Given the description of an element on the screen output the (x, y) to click on. 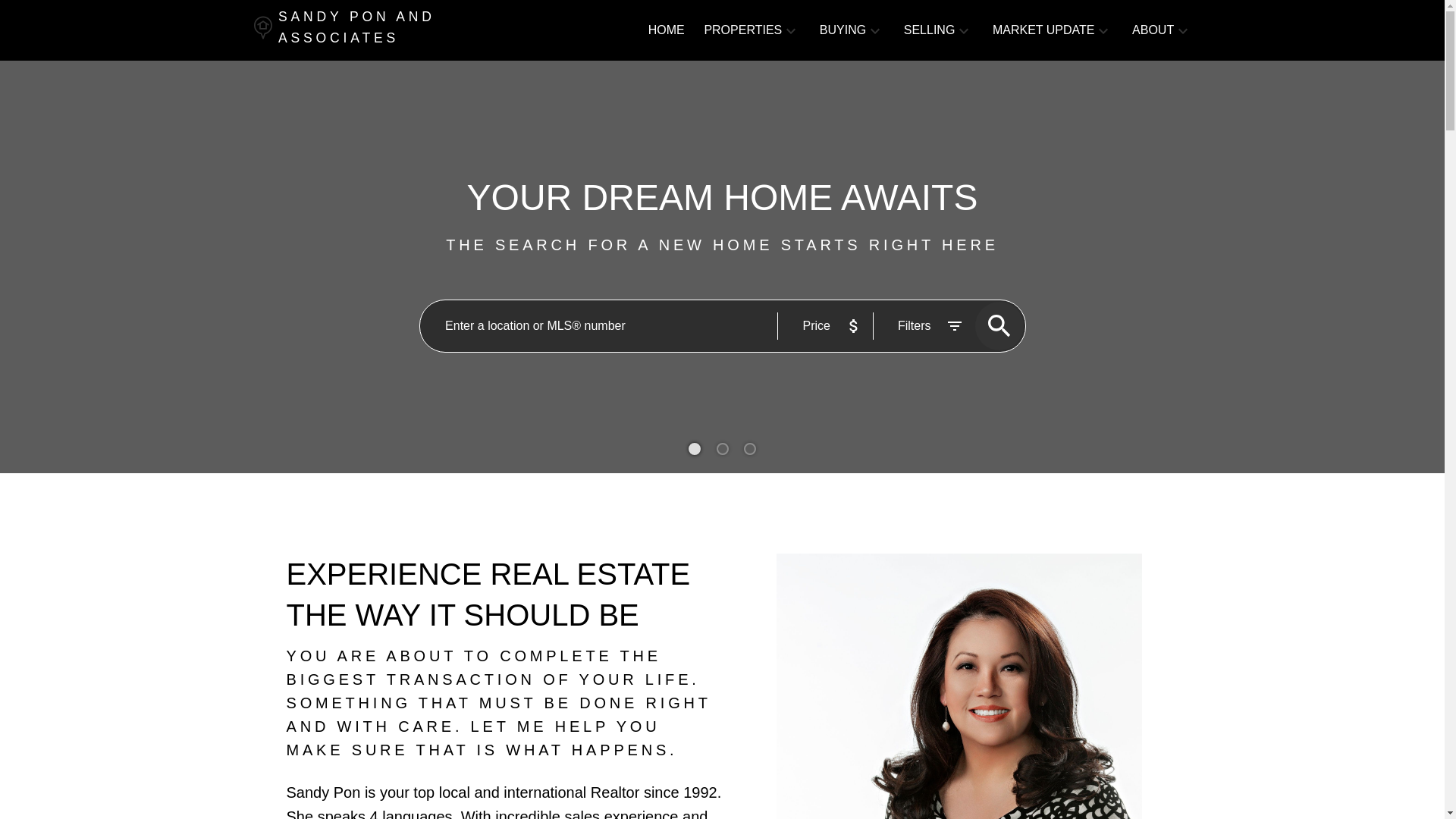
HOME (665, 30)
ABOUT (1152, 30)
BUYING (842, 30)
SANDY PON AND ASSOCIATES (374, 30)
SELLING (929, 30)
PROPERTIES (742, 30)
